Given the description of an element on the screen output the (x, y) to click on. 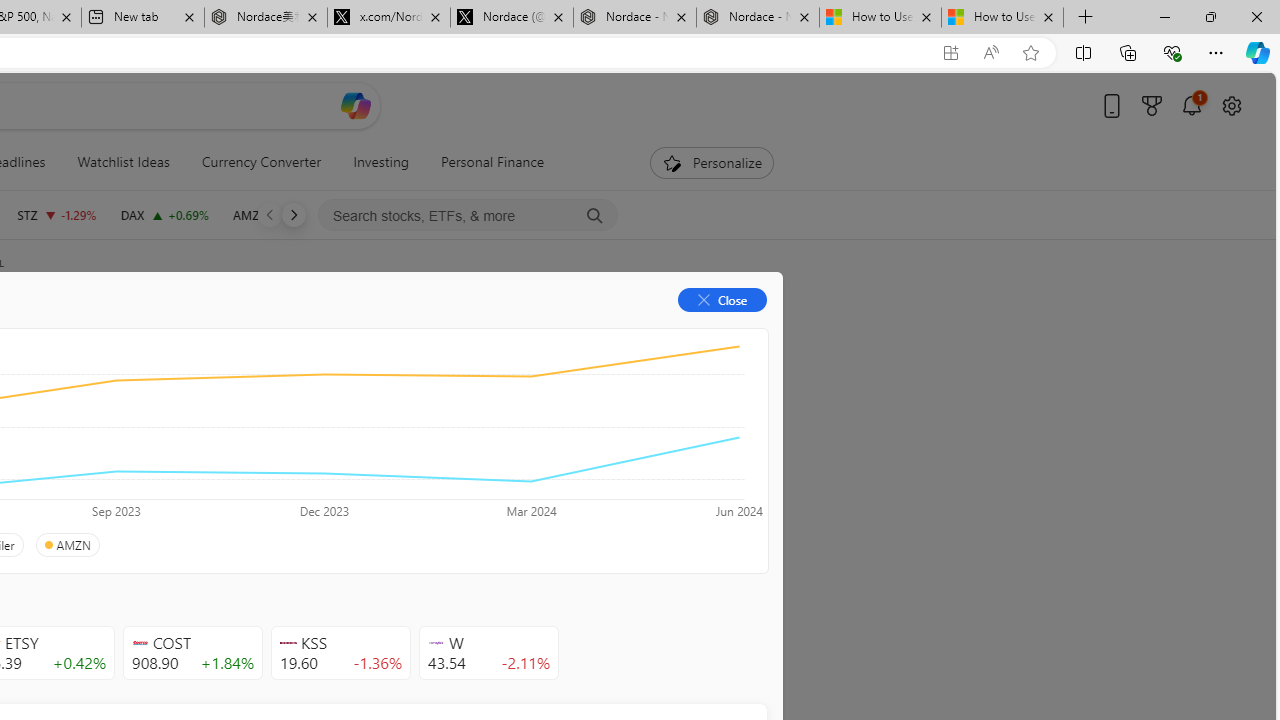
Previous (269, 214)
Class: autoSuggestIcon-DS-EntryPoint1-2 (436, 643)
Analysis (305, 331)
App available. Install Start Money (950, 53)
Personal Finance (493, 162)
Notifications (1192, 105)
STZ CONSTELLATION BRANDS, INC. decrease 239.98 -3.13 -1.29% (56, 214)
